Given the description of an element on the screen output the (x, y) to click on. 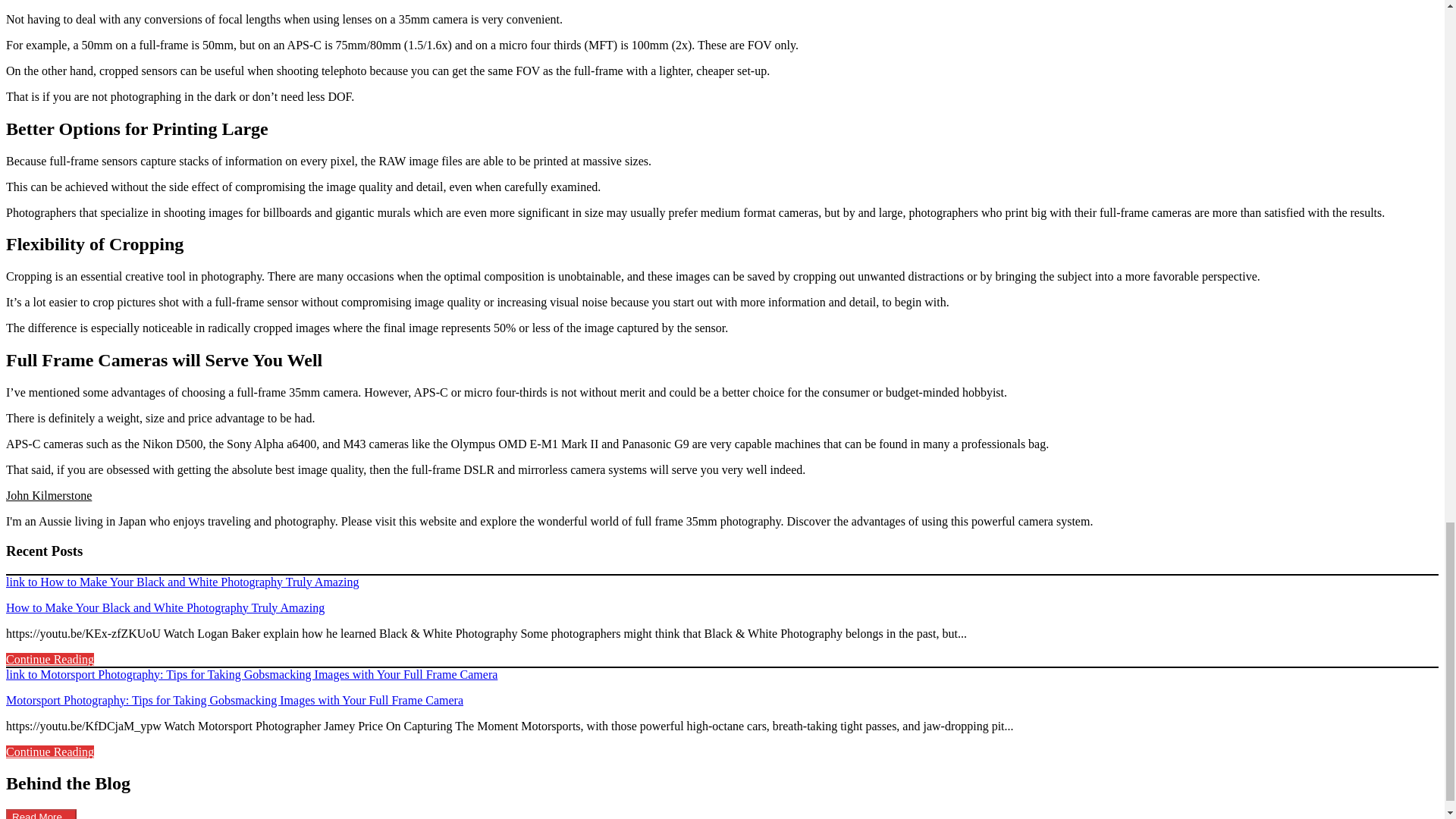
Continue Reading (49, 658)
How to Make Your Black and White Photography Truly Amazing (164, 607)
John Kilmerstone (48, 495)
